Given the description of an element on the screen output the (x, y) to click on. 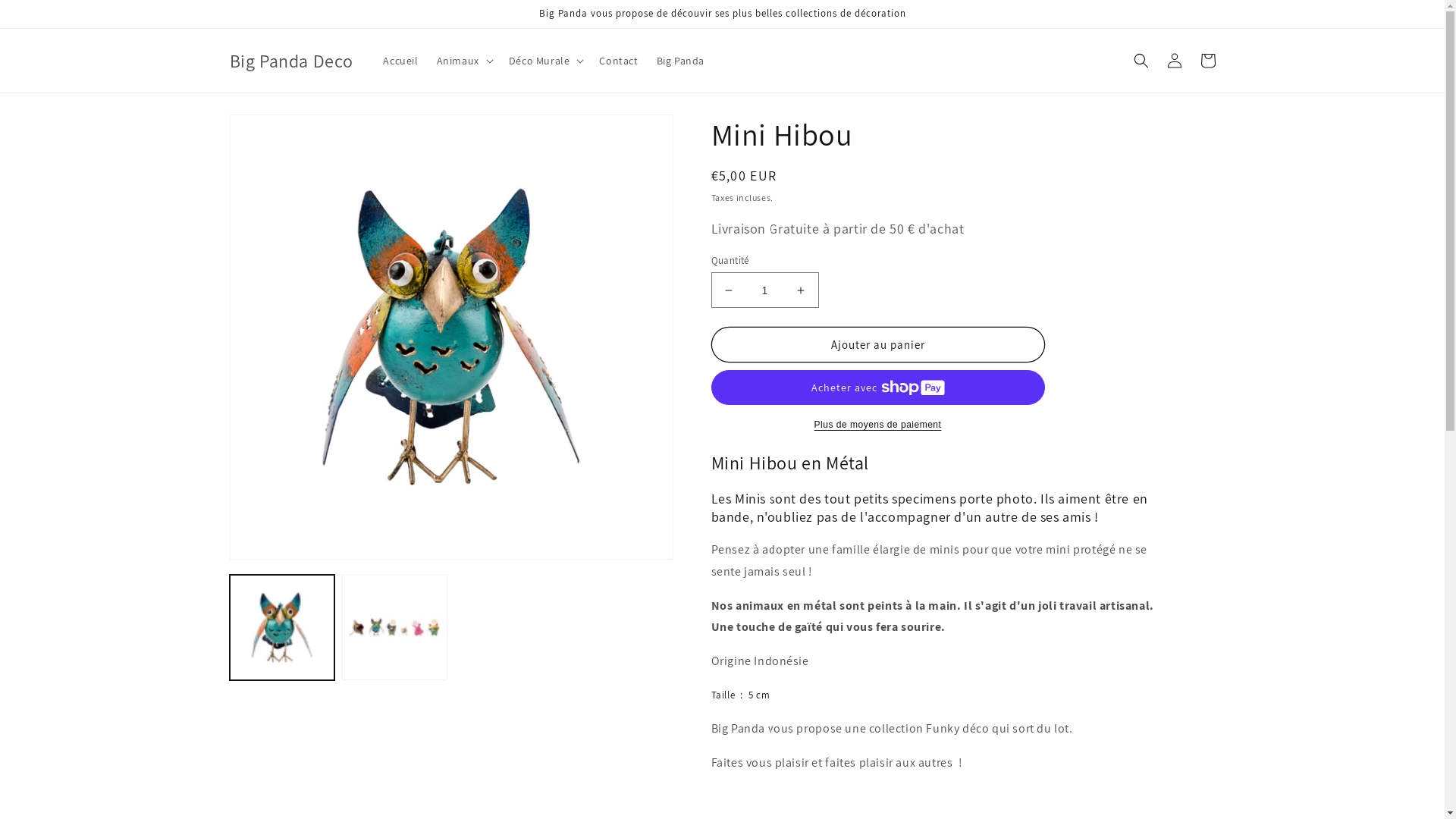
Accueil Element type: text (399, 60)
Panier Element type: text (1206, 60)
Plus de moyens de paiement Element type: text (877, 424)
Connexion Element type: text (1173, 60)
Contact Element type: text (617, 60)
Big Panda Element type: text (680, 60)
Passer aux informations produits Element type: text (275, 131)
Big Panda Deco Element type: text (290, 60)
Ajouter au panier Element type: text (877, 344)
